Given the description of an element on the screen output the (x, y) to click on. 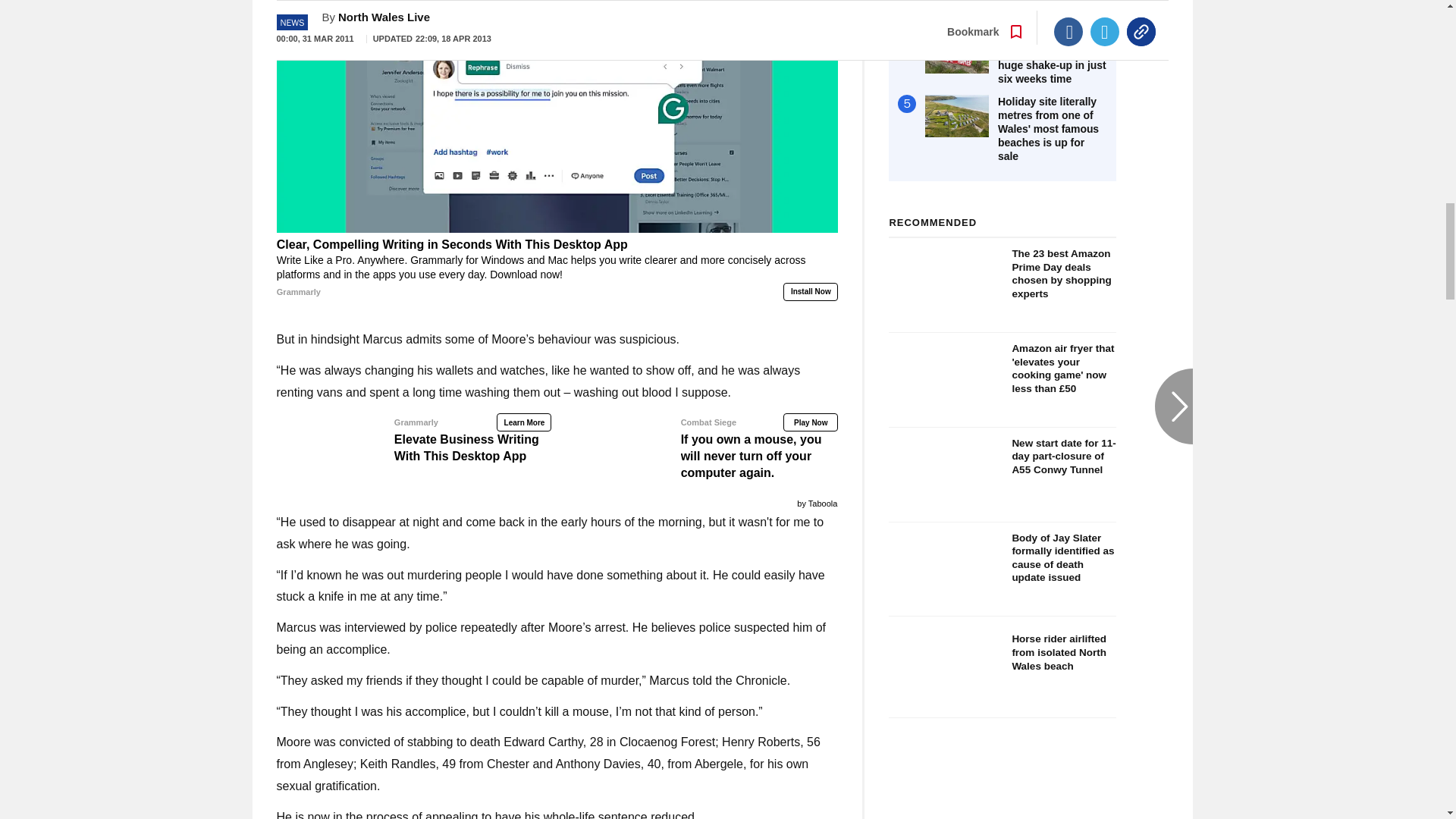
Clear, Compelling Writing in Seconds With This Desktop App (557, 268)
